Given the description of an element on the screen output the (x, y) to click on. 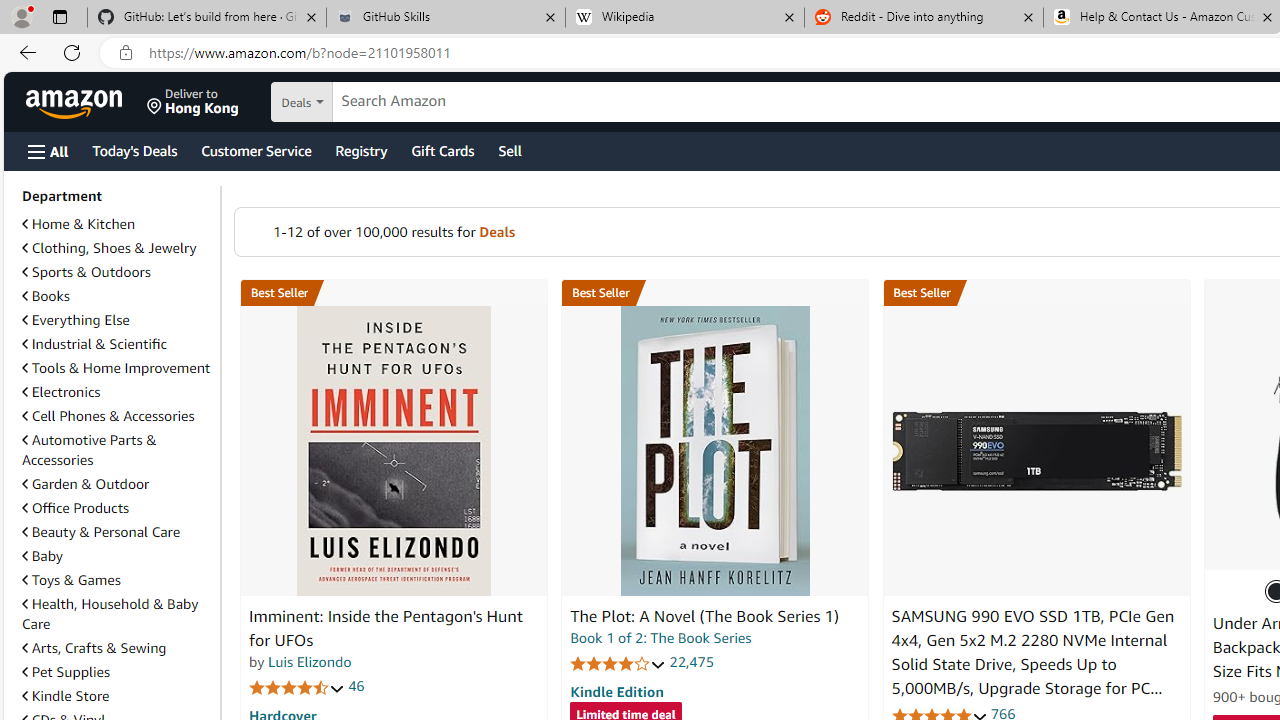
Best Seller in Heist Thrillers (715, 293)
4.2 out of 5 stars (617, 663)
Everything Else (75, 320)
Everything Else (117, 319)
46 (356, 686)
Open Menu (48, 151)
Clothing, Shoes & Jewelry (117, 247)
Best Seller in Unexplained Mysteries (393, 293)
Search in (371, 102)
Books (117, 295)
Office Products (75, 507)
